Given the description of an element on the screen output the (x, y) to click on. 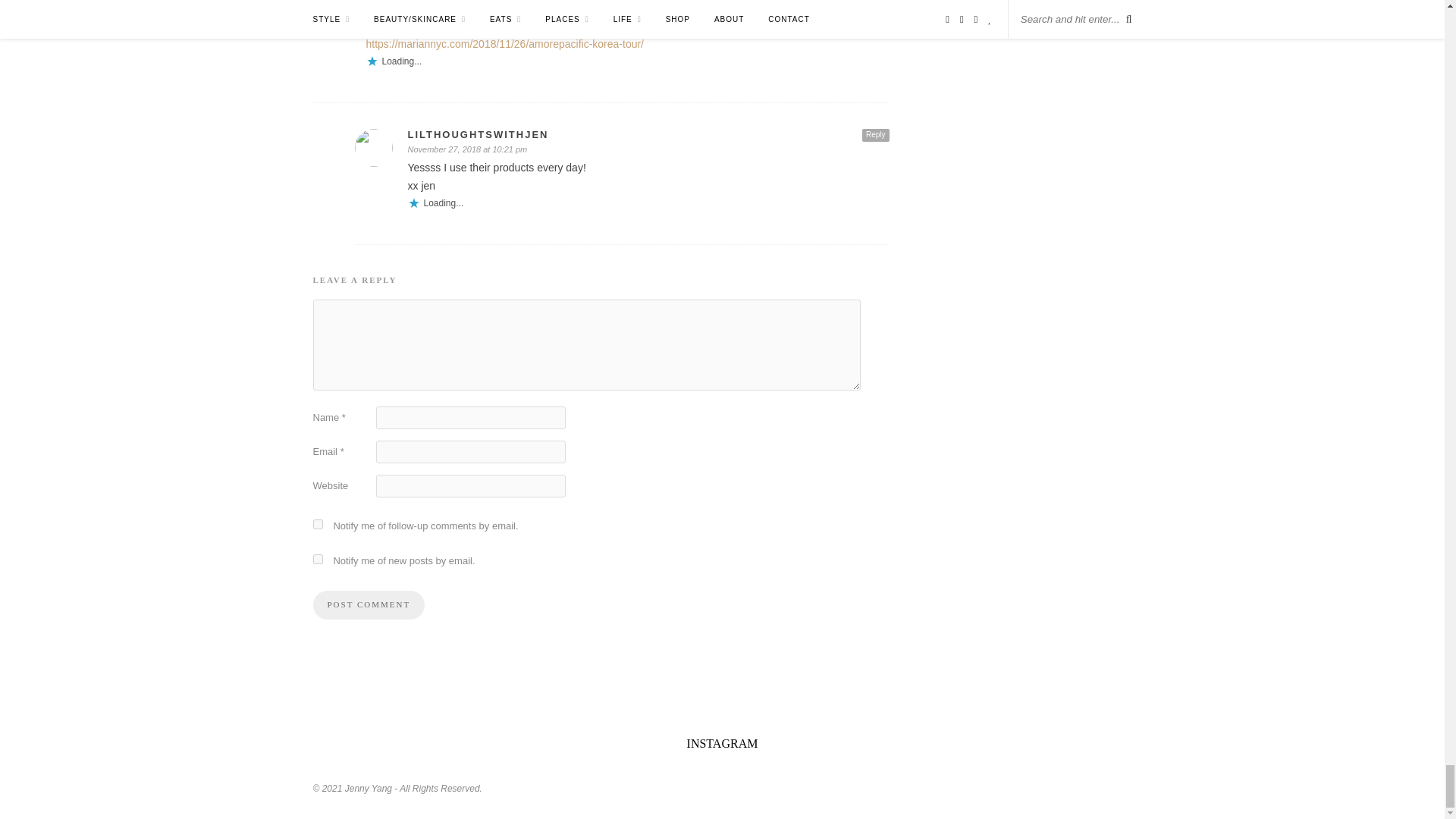
Post Comment (369, 604)
subscribe (317, 559)
subscribe (317, 524)
